Given the description of an element on the screen output the (x, y) to click on. 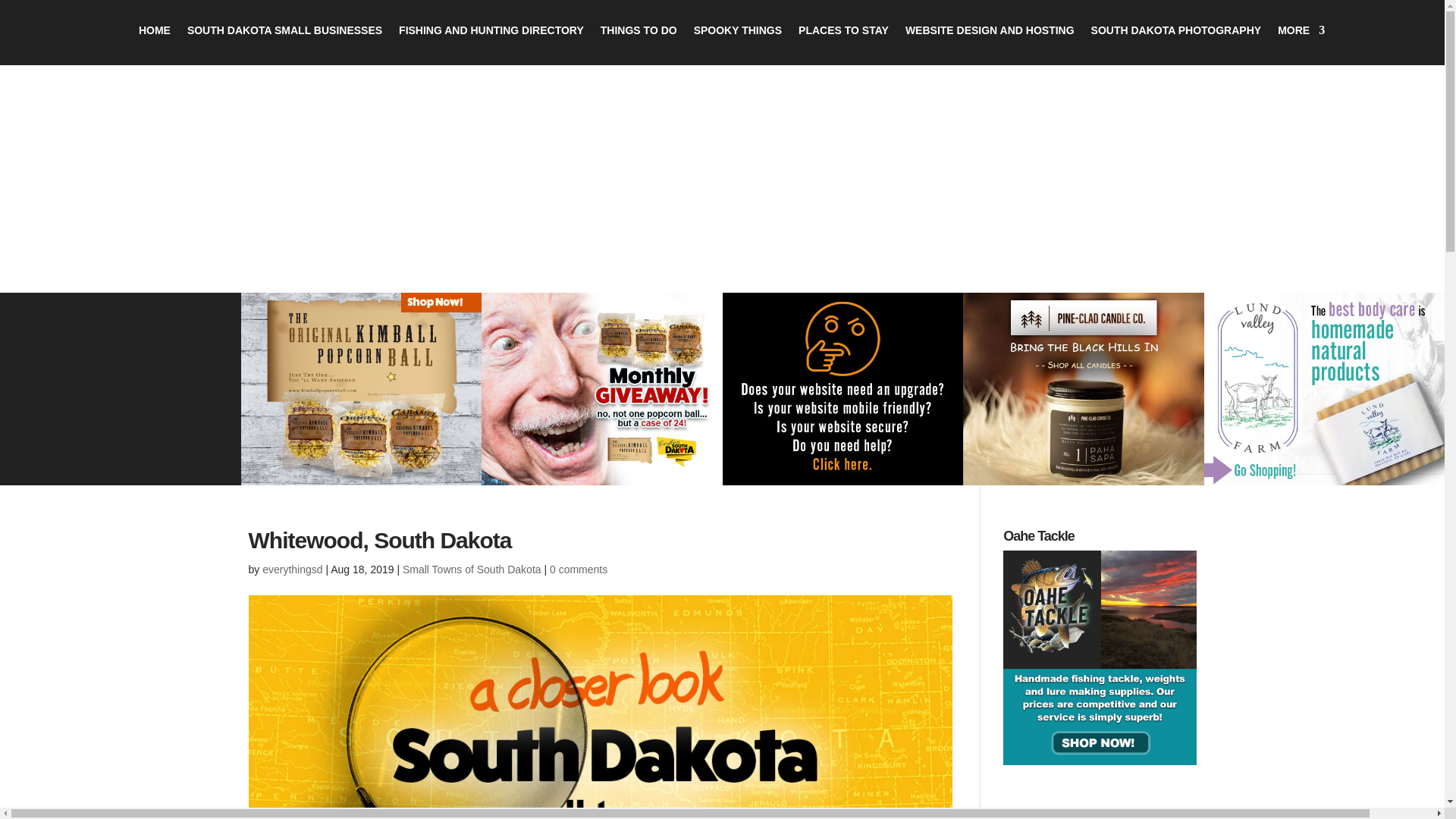
SOUTH DAKOTA SMALL BUSINESSES (284, 41)
everythingsd (291, 569)
Small Towns of South Dakota (472, 569)
Kimball Popcorn Ball Monthly Giveaway (601, 388)
PLACES TO STAY (842, 41)
Check out things to do in South Dakota (638, 41)
SPOOKY THINGS (737, 41)
Kimball Popcorn Ball (361, 388)
Factor 360 Inc. Website Design (842, 388)
SOUTH DAKOTA PHOTOGRAPHY (1176, 41)
